Given the description of an element on the screen output the (x, y) to click on. 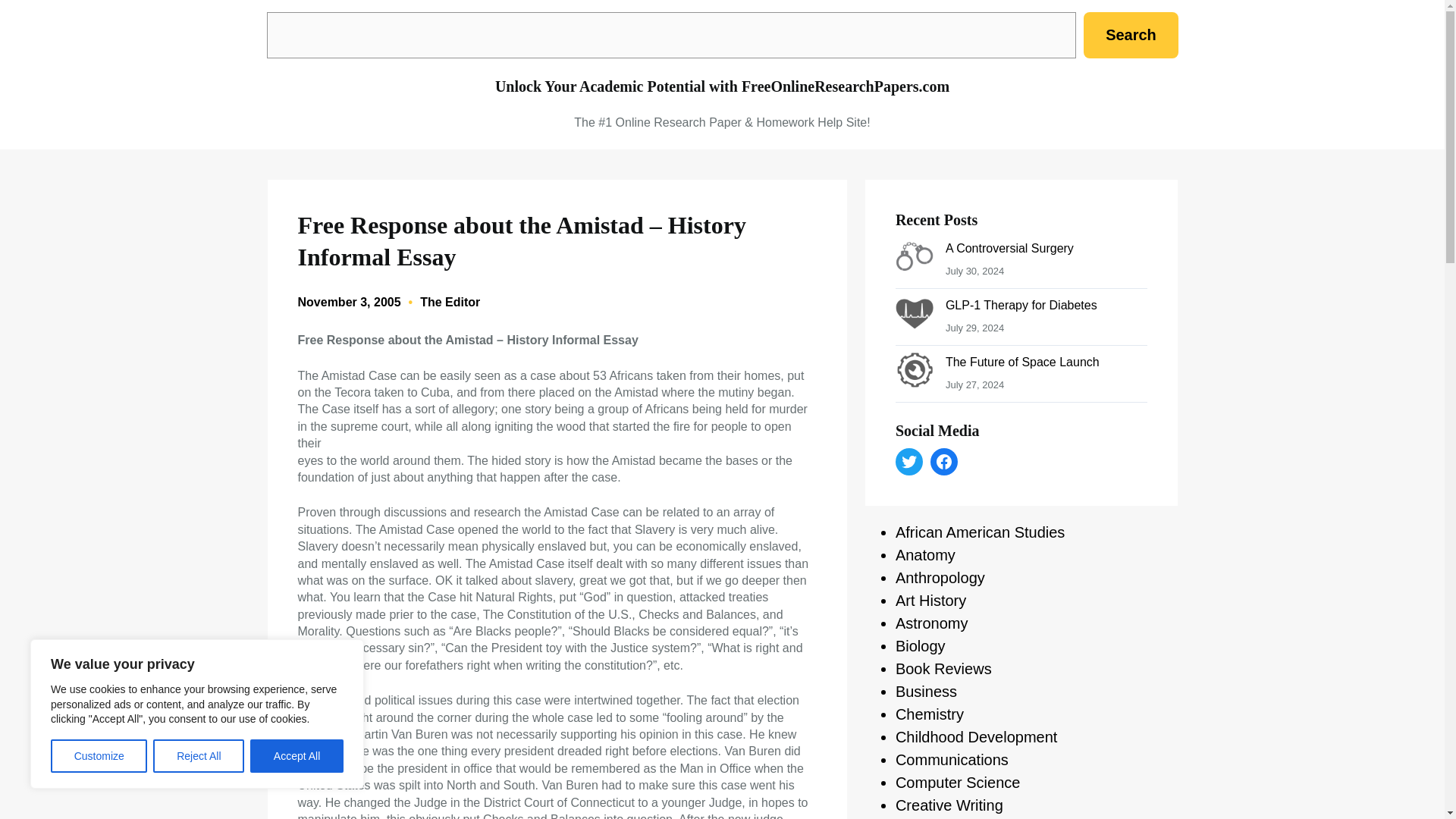
Facebook (944, 461)
Reject All (198, 756)
Anatomy (925, 555)
Twitter (909, 461)
Customize (98, 756)
Search (1130, 35)
The Editor (450, 301)
Anthropology (940, 577)
GLP-1 Therapy for Diabetes (1020, 305)
A Controversial Surgery (1009, 247)
Accept All (296, 756)
African American Studies (979, 532)
The Future of Space Launch (1021, 361)
